Given the description of an element on the screen output the (x, y) to click on. 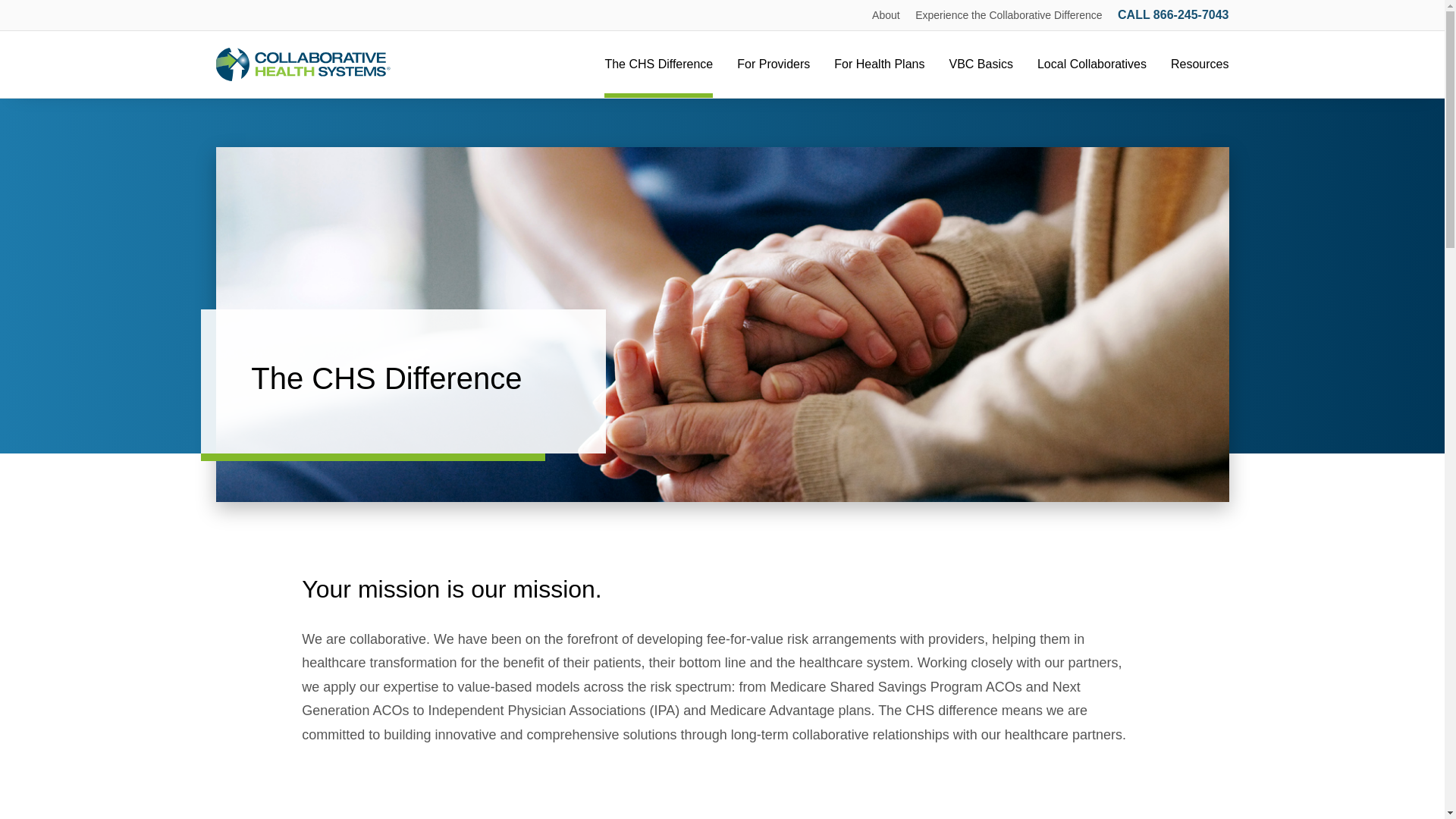
CALL 866-245-7043 (1173, 14)
Experience the Collaborative Difference (1008, 15)
VBC Basics (980, 64)
For Health Plans (879, 64)
About (885, 15)
The CHS Difference (658, 64)
Local Collaboratives (1091, 64)
Local Collaboratives (1091, 64)
For Providers (772, 64)
